Given the description of an element on the screen output the (x, y) to click on. 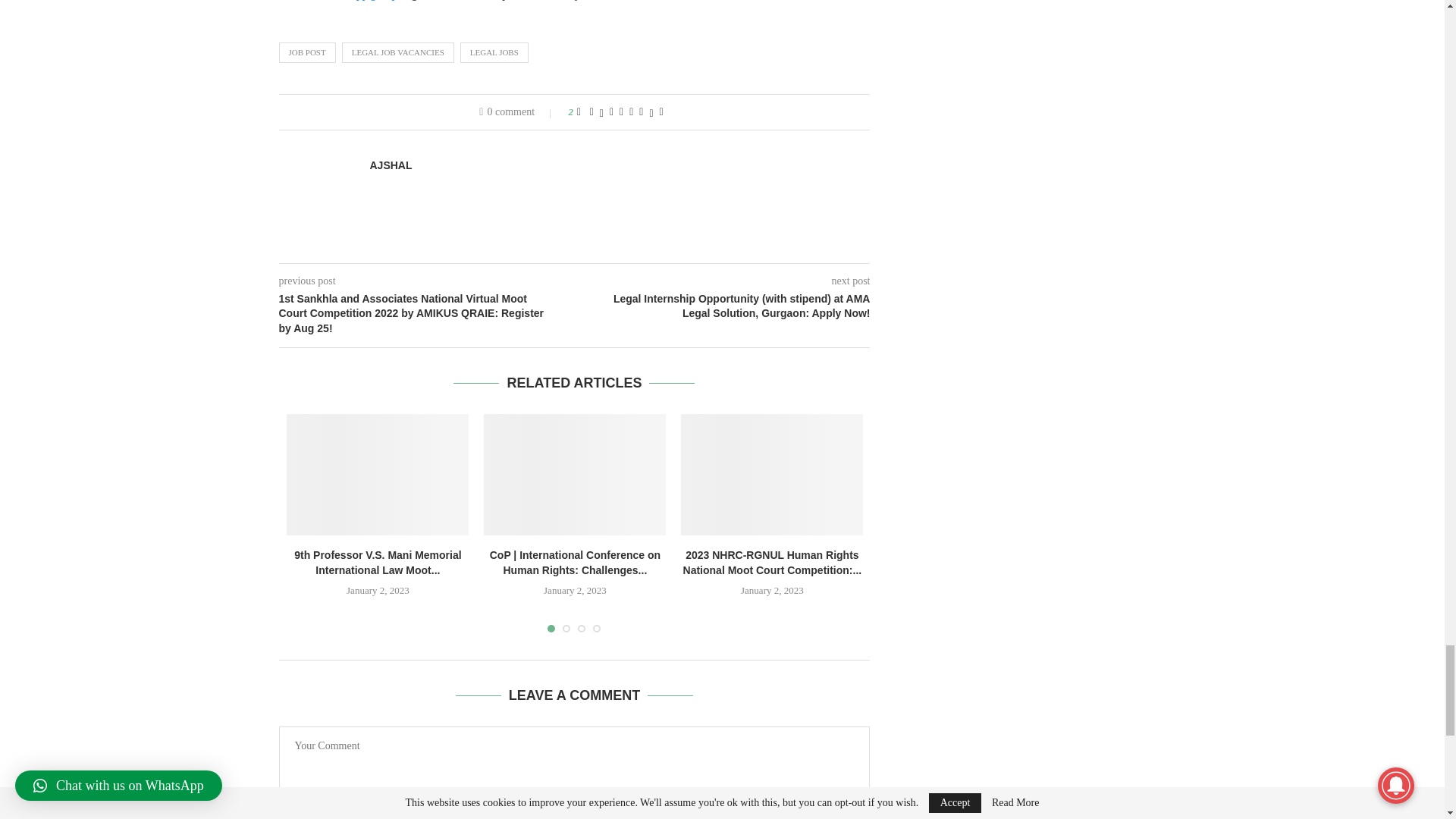
Author Ajshal (390, 164)
